Given the description of an element on the screen output the (x, y) to click on. 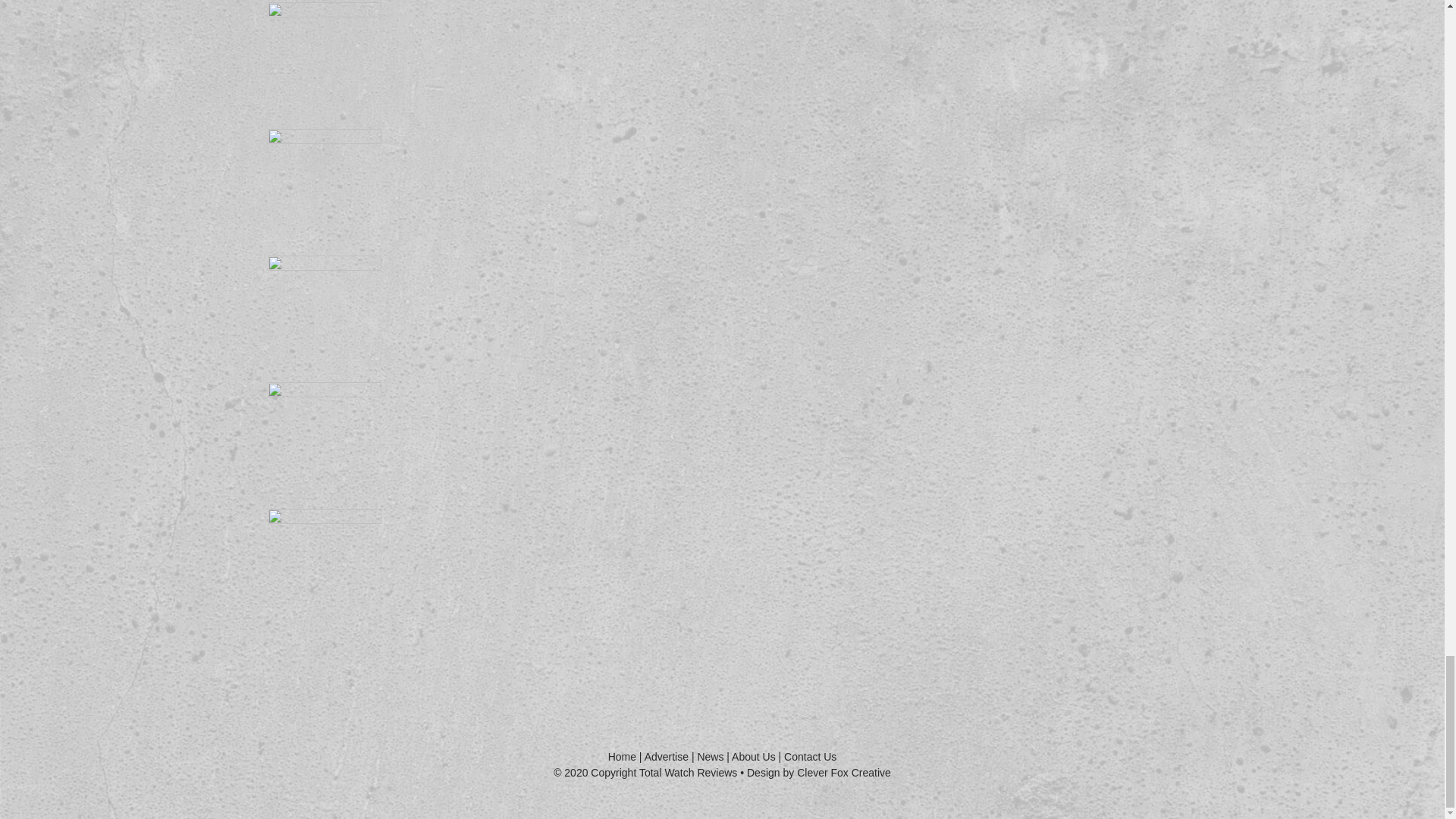
News (710, 756)
Watch Reviews (666, 756)
About Us (754, 756)
Home (622, 756)
Contact Us (809, 756)
